Given the description of an element on the screen output the (x, y) to click on. 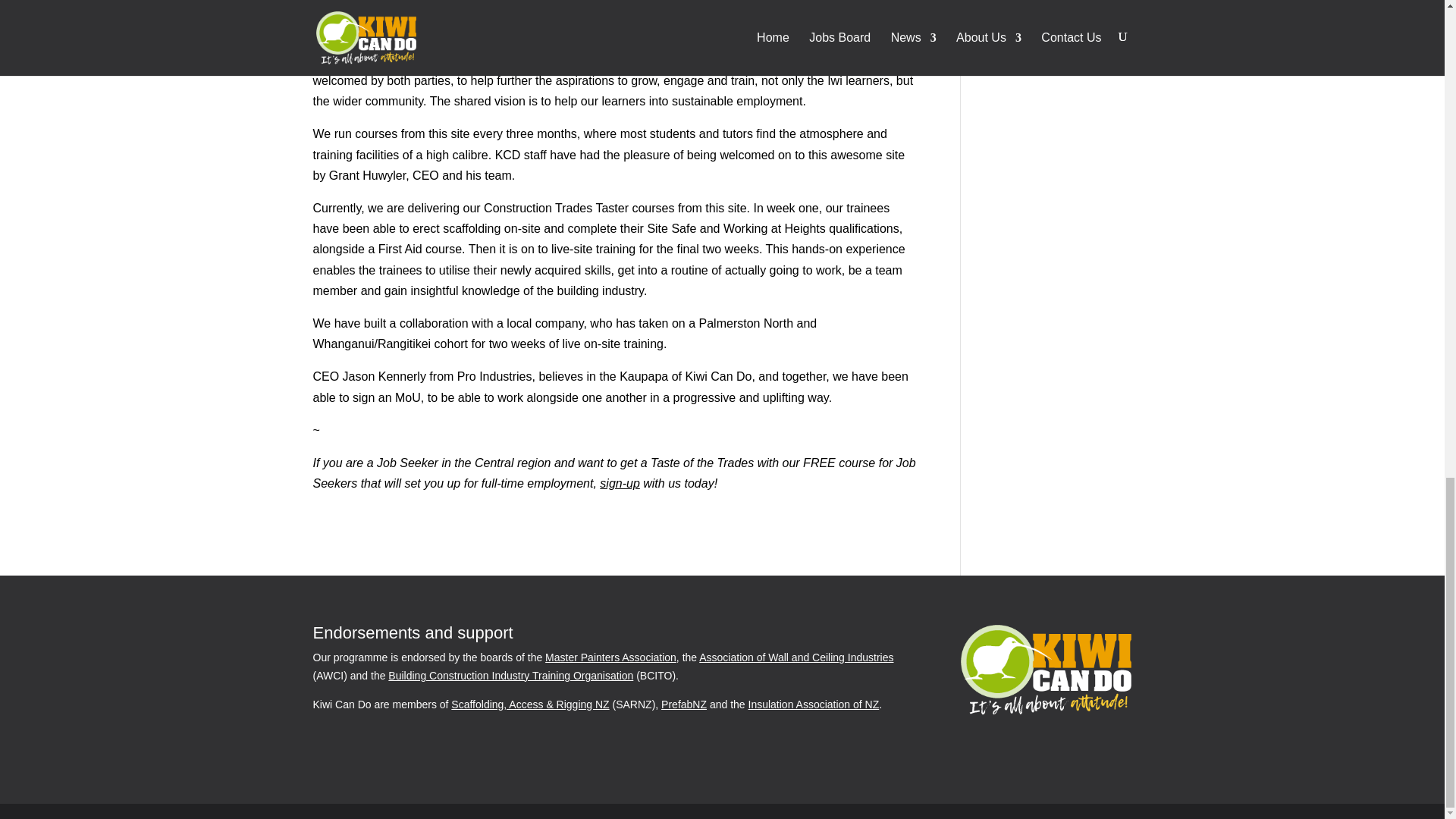
Master Painters Association (610, 657)
Insulation Association of NZ (813, 704)
PrefabNZ (683, 704)
Te Poho o Tuariki (614, 13)
Building Construction Industry Training Organisation (510, 675)
Association of Wall and Ceiling Industries (795, 657)
sign-up (619, 482)
